Given the description of an element on the screen output the (x, y) to click on. 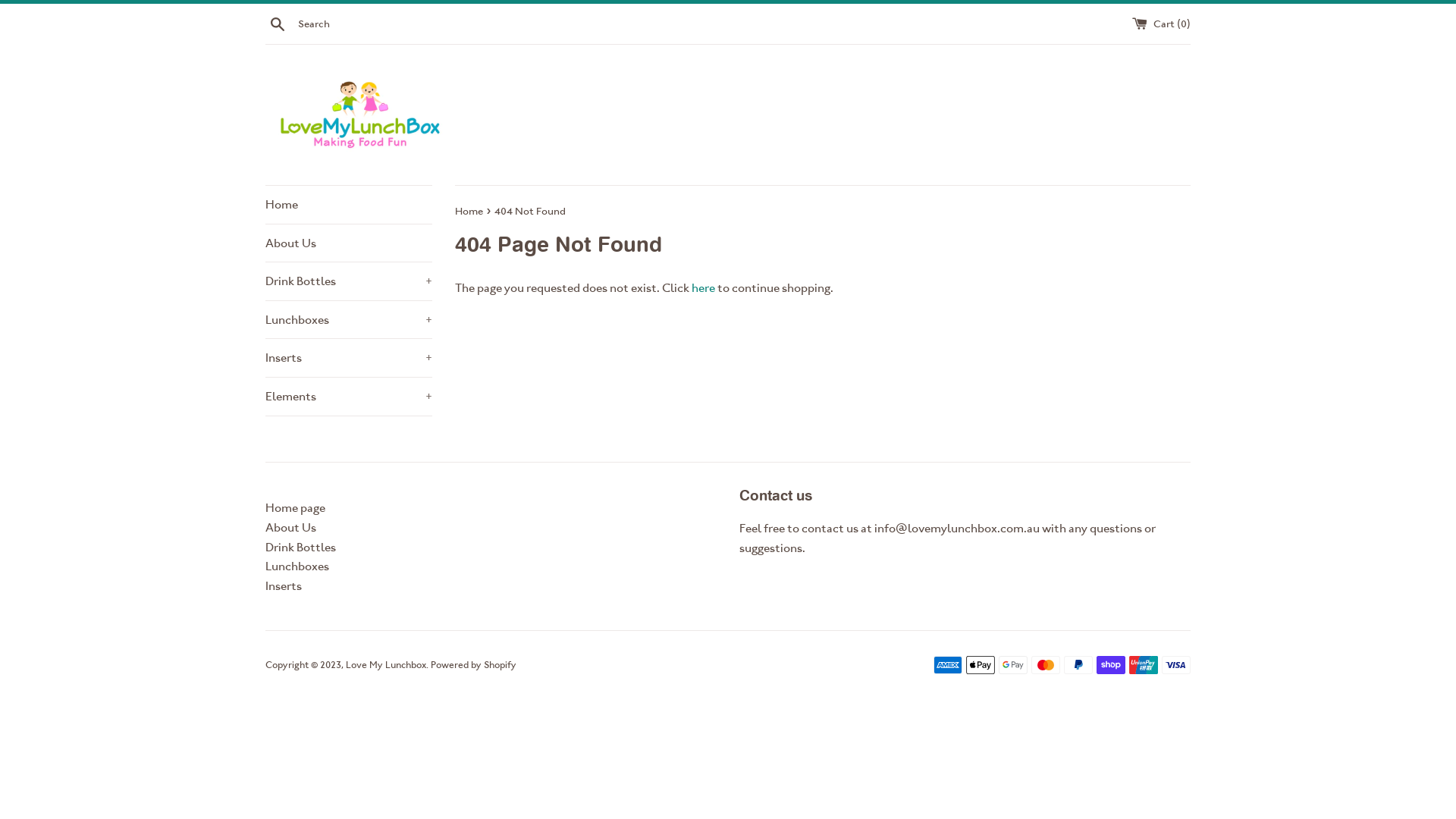
Cart (0) Element type: text (1161, 22)
Home page Element type: text (295, 507)
Powered by Shopify Element type: text (473, 664)
Lunchboxes
+ Element type: text (348, 319)
Drink Bottles
+ Element type: text (348, 281)
Drink Bottles Element type: text (300, 546)
here Element type: text (703, 287)
Lunchboxes Element type: text (297, 565)
About Us Element type: text (348, 243)
Inserts Element type: text (283, 585)
Search Element type: text (277, 22)
Elements
+ Element type: text (348, 396)
Home Element type: text (348, 204)
Home Element type: text (470, 210)
Inserts
+ Element type: text (348, 357)
About Us Element type: text (290, 527)
Love My Lunchbox Element type: text (385, 664)
